Given the description of an element on the screen output the (x, y) to click on. 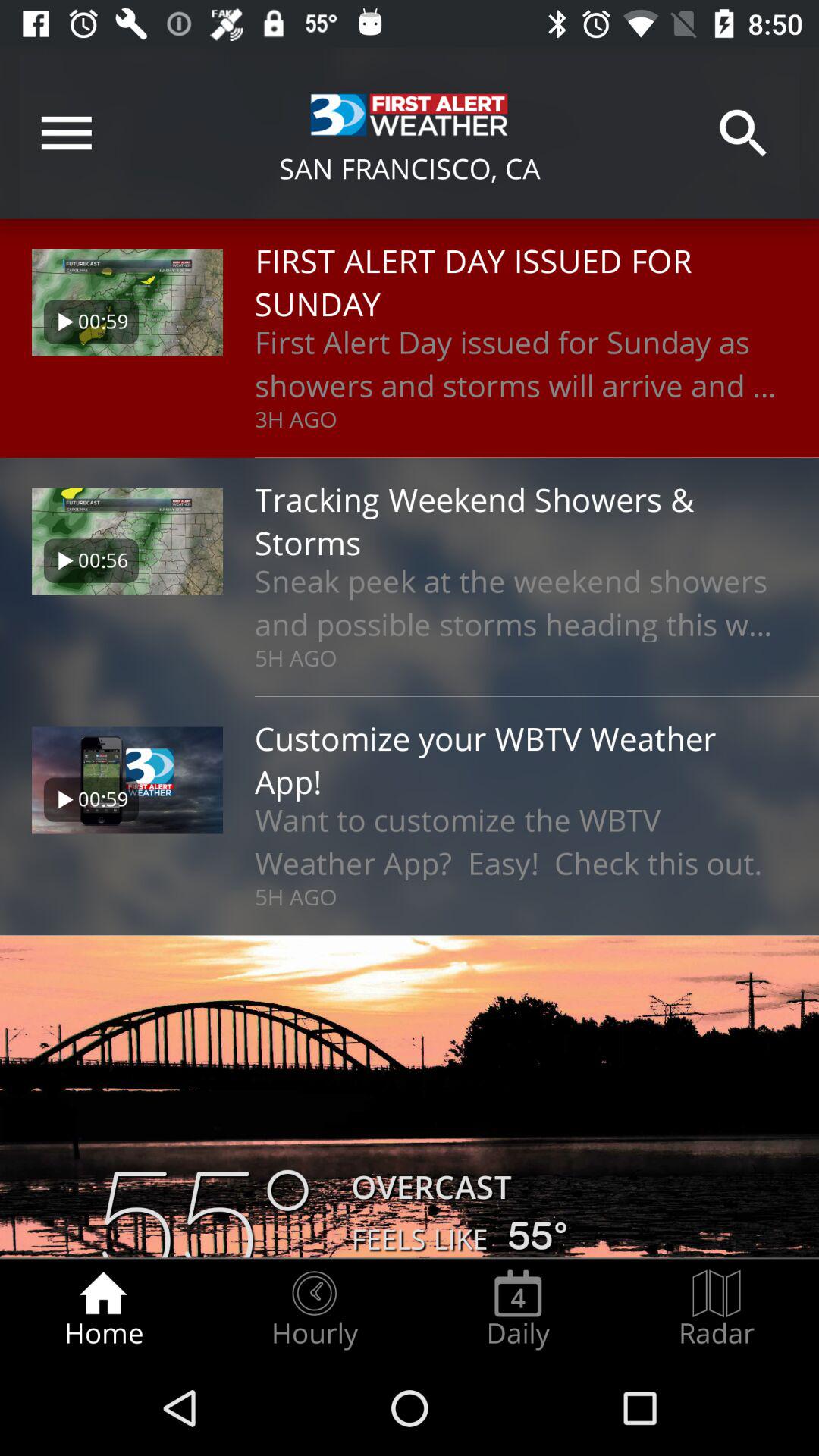
select the radio button at the bottom right corner (716, 1309)
